Given the description of an element on the screen output the (x, y) to click on. 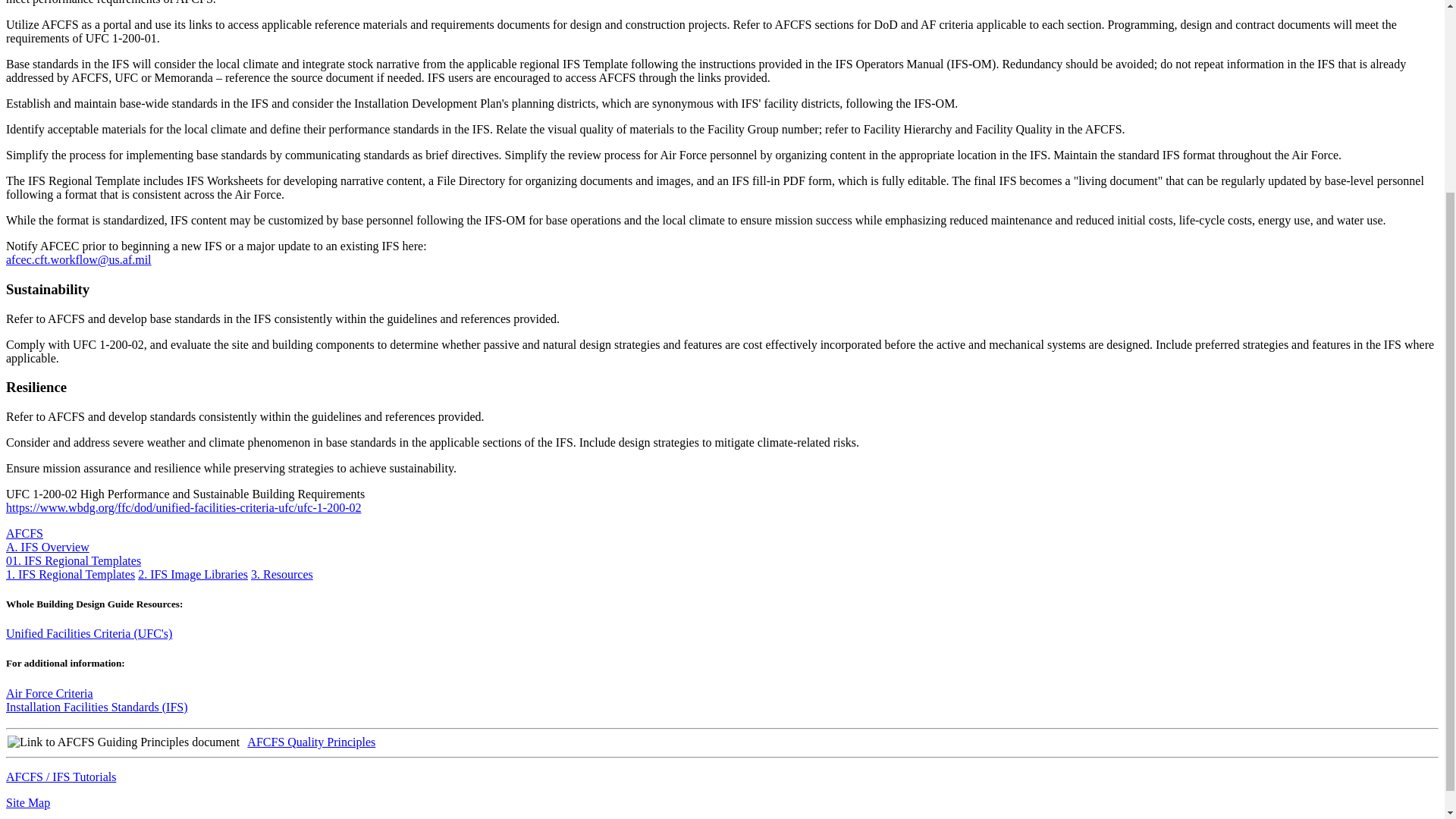
Site Map (27, 802)
AFCFS Quality Principles (311, 740)
1. IFS Regional Templates (70, 574)
AFCFS (24, 533)
3. Resources (281, 574)
2. IFS Image Libraries (192, 574)
01. IFS Regional Templates (73, 560)
Air Force Criteria (49, 693)
A. IFS Overview (46, 546)
